Given the description of an element on the screen output the (x, y) to click on. 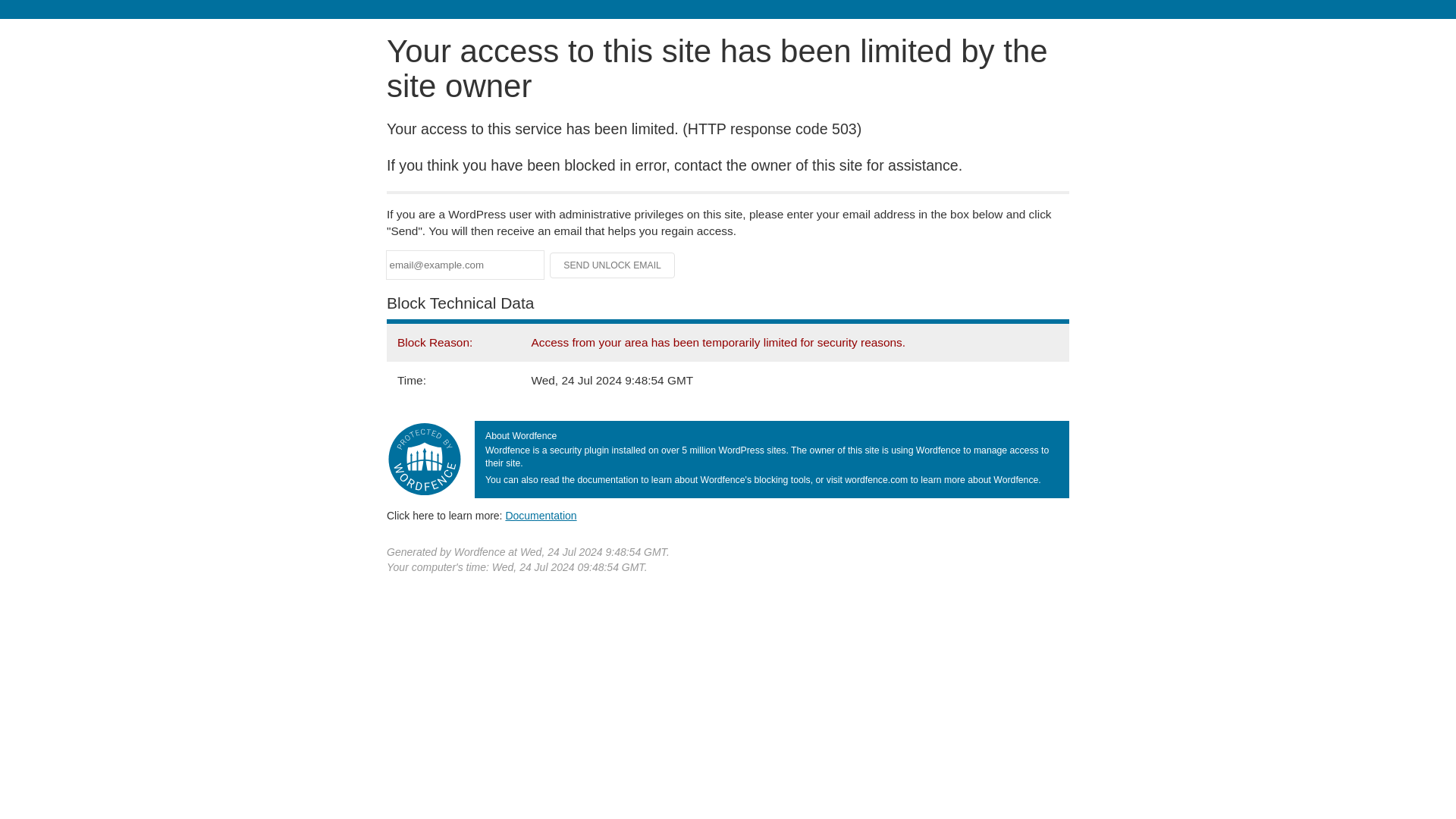
Documentation (540, 515)
Send Unlock Email (612, 265)
Send Unlock Email (612, 265)
